Given the description of an element on the screen output the (x, y) to click on. 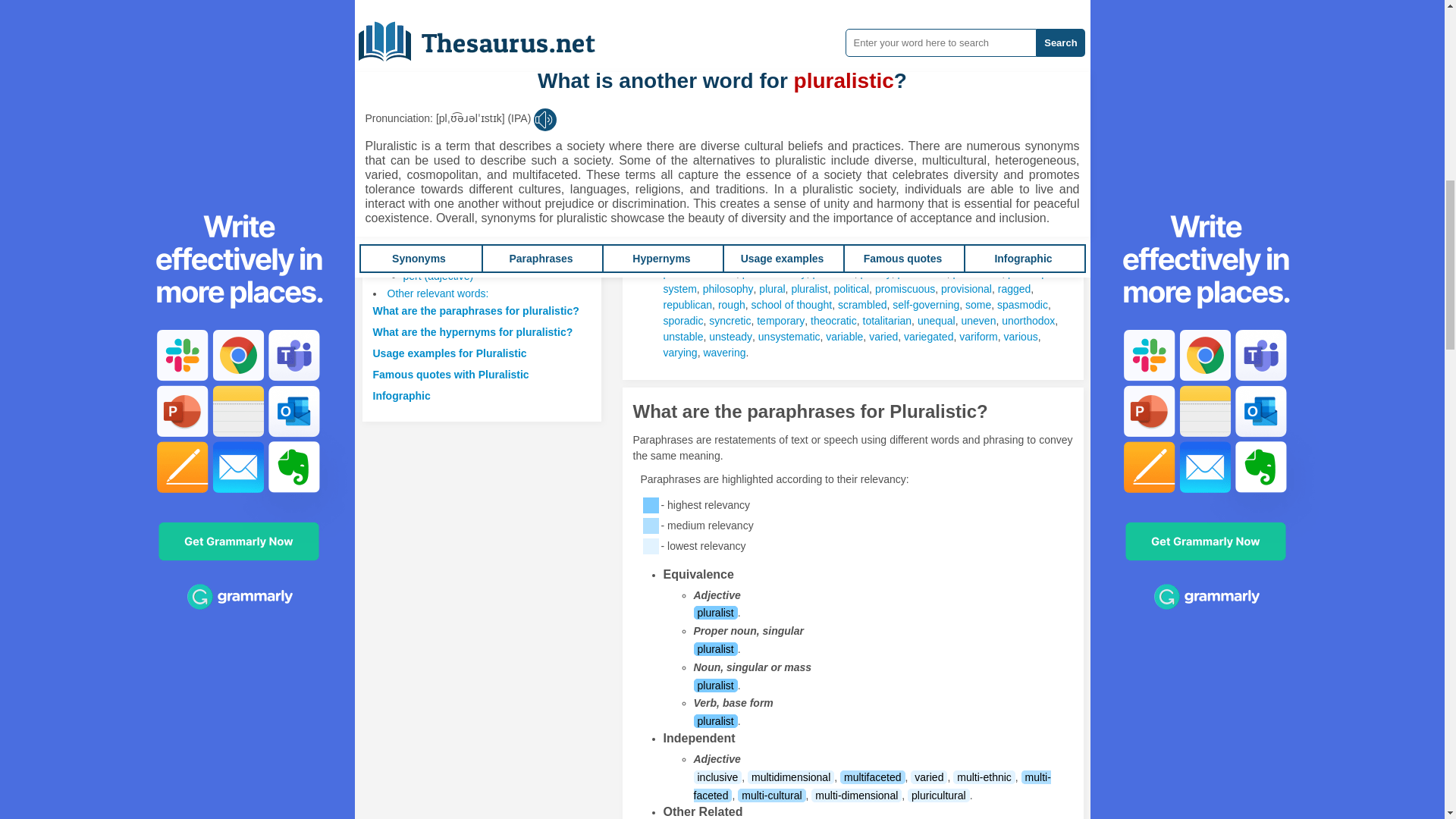
bureaucratic (917, 97)
Synonyms for Pluralistic (1020, 65)
aristocratic (980, 81)
Synonyms for Pluralistic (741, 81)
Synonyms for Pluralistic (684, 15)
Oligarchal (966, 65)
Deviating (684, 65)
Synonyms for Pluralistic (917, 97)
Usage examples for Pluralistic (449, 353)
Synonyms for Pluralistic (917, 65)
Synonyms for Pluralistic (809, 97)
Synonyms for Pluralistic (863, 97)
absolute (682, 81)
autonomous (809, 97)
Synonyms for Pluralistic (966, 65)
